Given the description of an element on the screen output the (x, y) to click on. 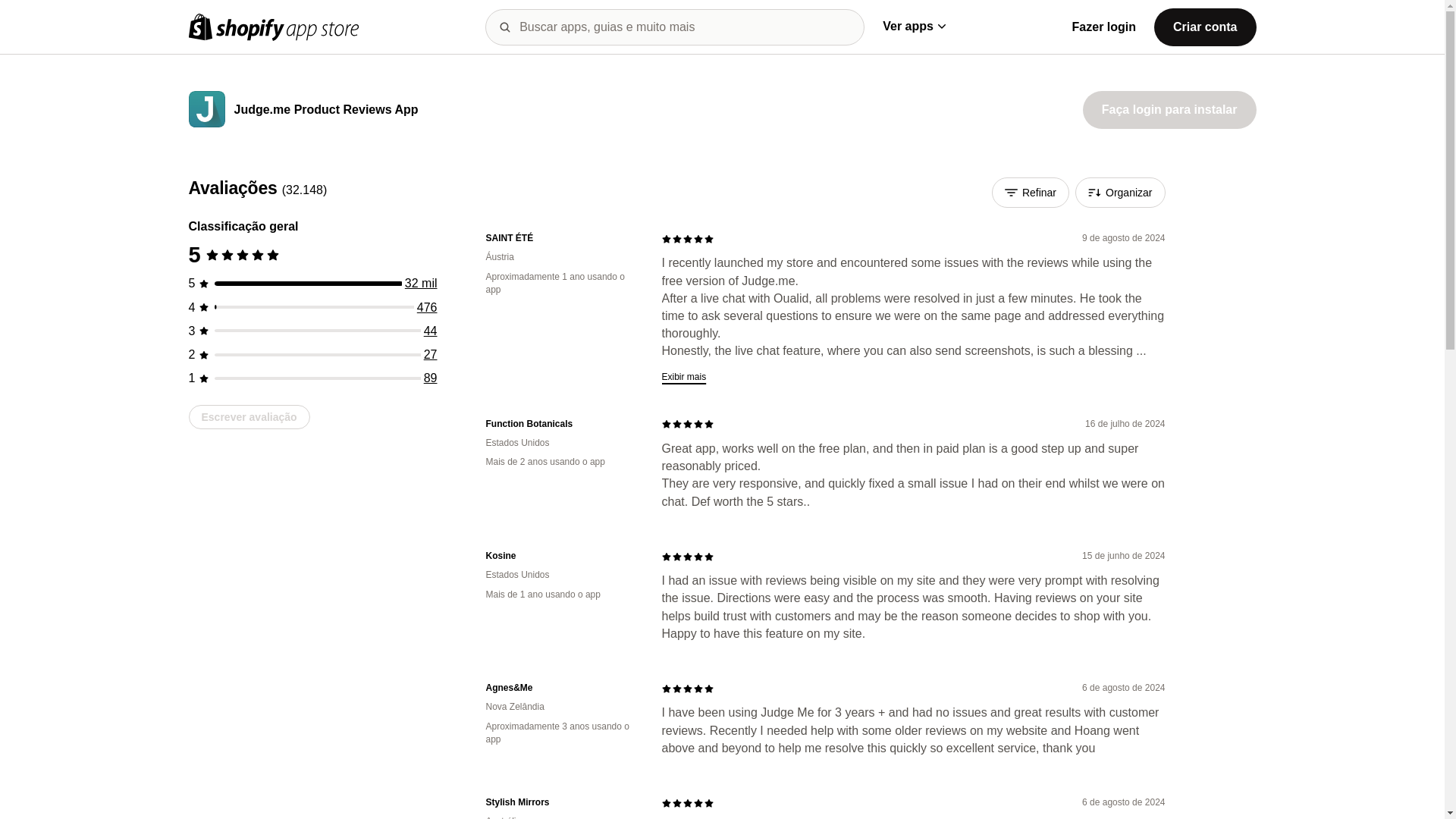
Fazer login (1103, 27)
Stylish Mirrors (560, 802)
27 (430, 354)
476 (427, 307)
Judge.me Product Reviews App (324, 110)
Function Botanicals (560, 423)
44 (430, 330)
32 mil (421, 282)
Ver apps (913, 26)
89 (430, 377)
